Given the description of an element on the screen output the (x, y) to click on. 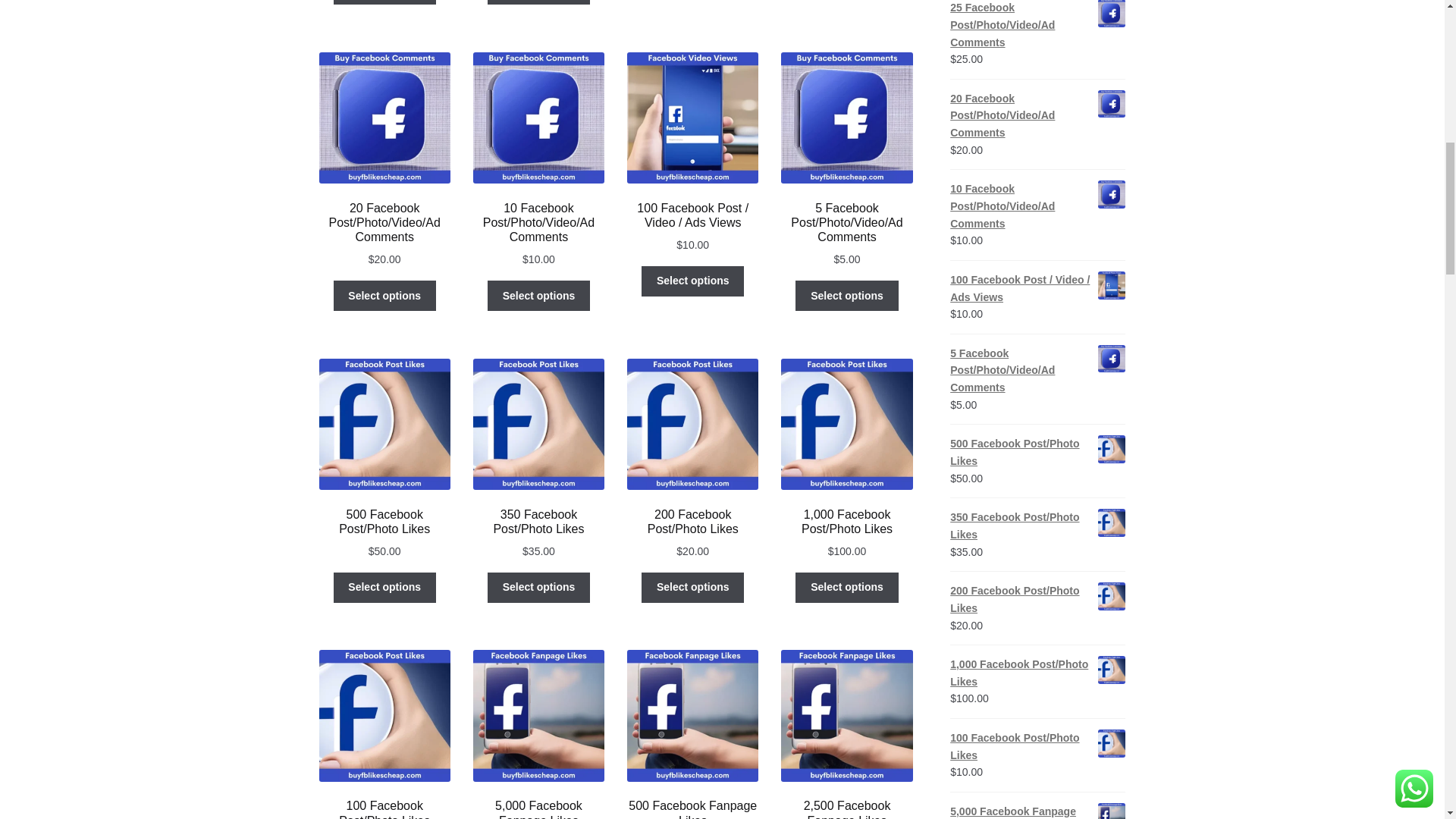
Select options (538, 2)
Select options (384, 295)
Select options (384, 2)
Select options (538, 295)
